Given the description of an element on the screen output the (x, y) to click on. 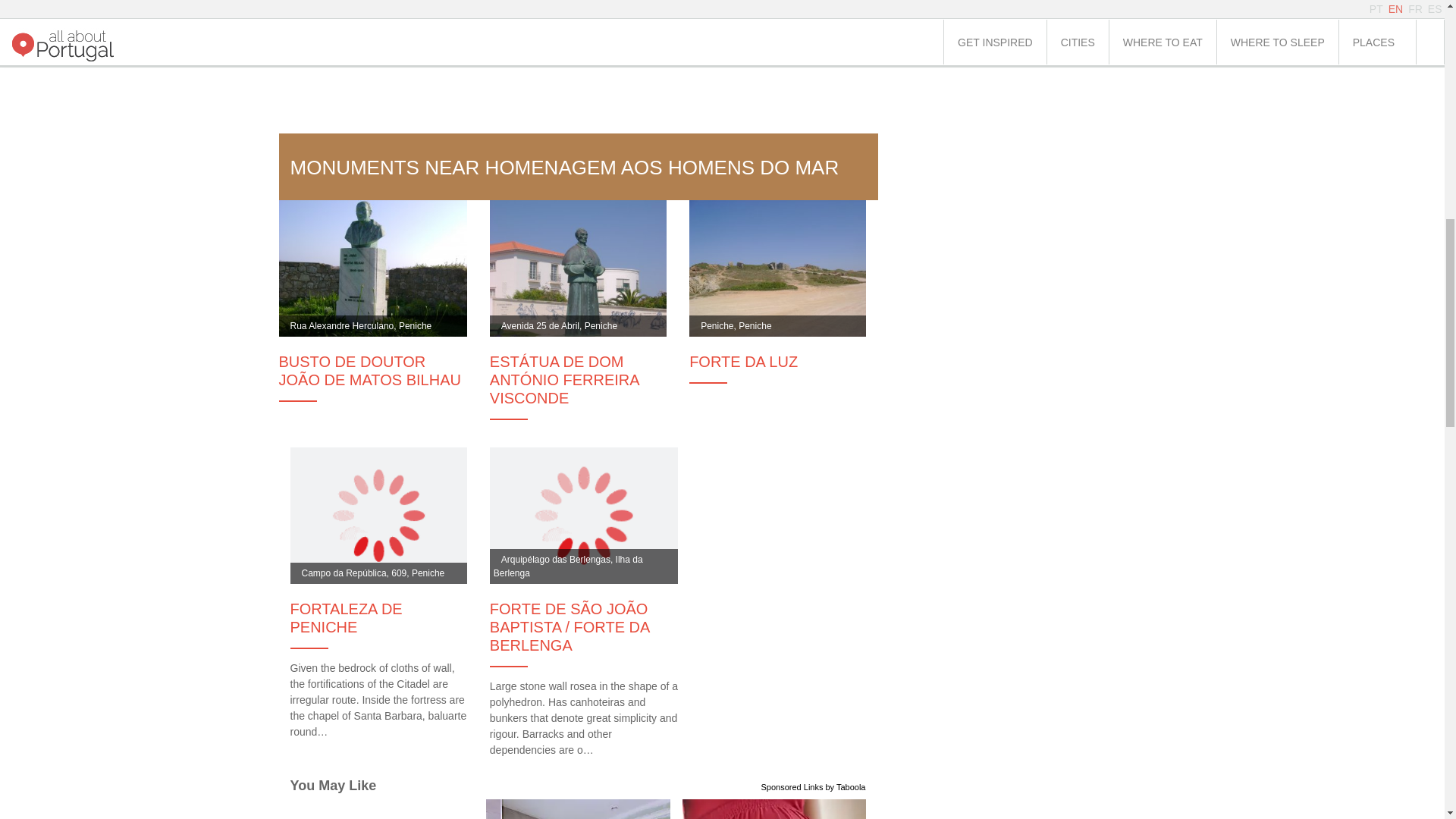
FORTE DA LUZ (777, 361)
Peniche, Peniche (777, 267)
Avenida 25 de Abril, Peniche (577, 267)
Rua Alexandre Herculano, Peniche (373, 267)
